Given the description of an element on the screen output the (x, y) to click on. 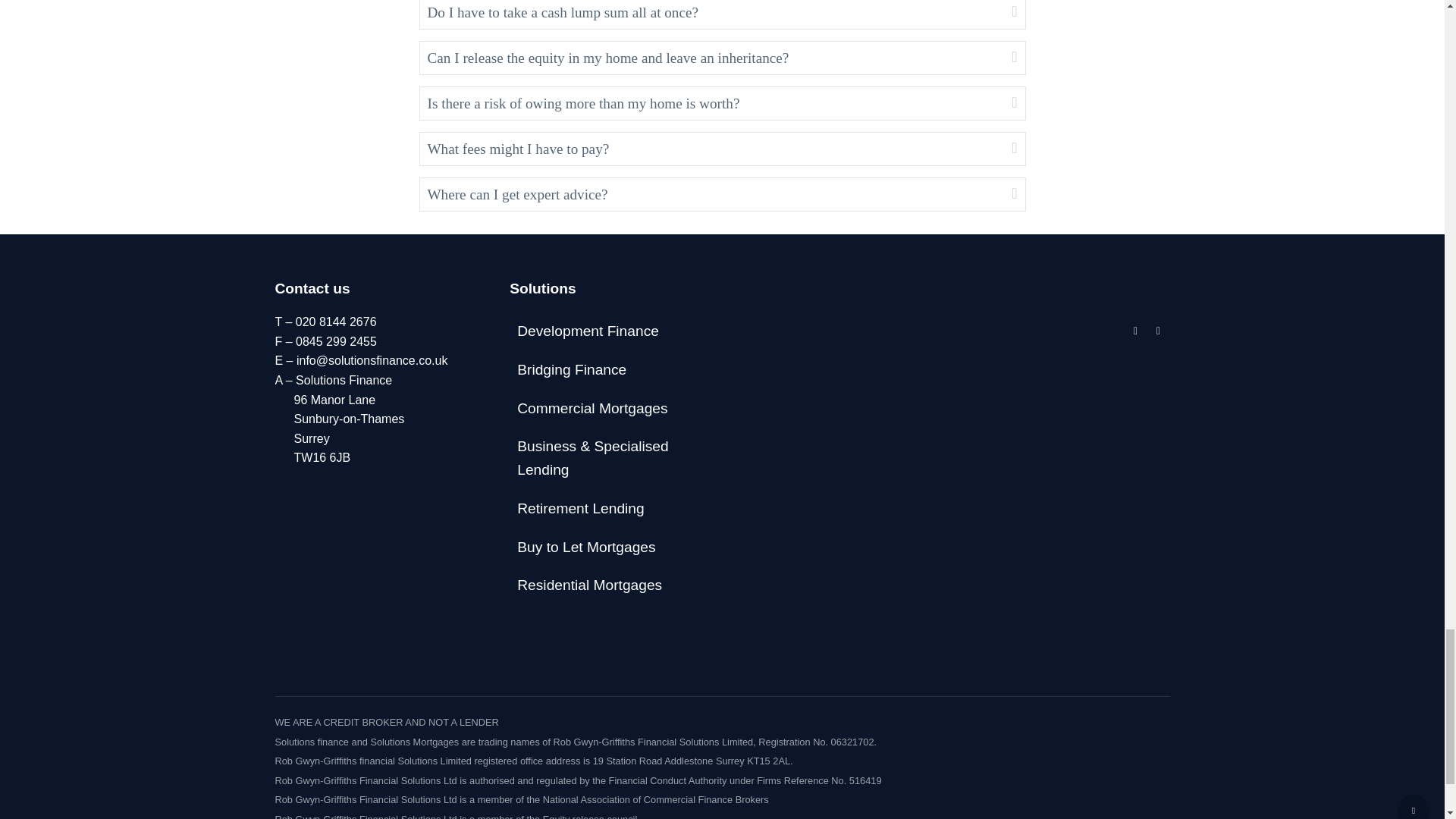
Back To Top (1413, 806)
Commercial Mortgages (604, 408)
Retirement Lending (604, 508)
020 8144 2676 (336, 321)
Buy to Let Mortgages (604, 547)
Residential Mortgages (604, 585)
Bridging Finance (604, 370)
Zachary Gwyn-Griffiths LinkedIn (1158, 330)
Development Finance (604, 331)
Rob Gwyn-Griffiths LinkedIn (1135, 330)
